Given the description of an element on the screen output the (x, y) to click on. 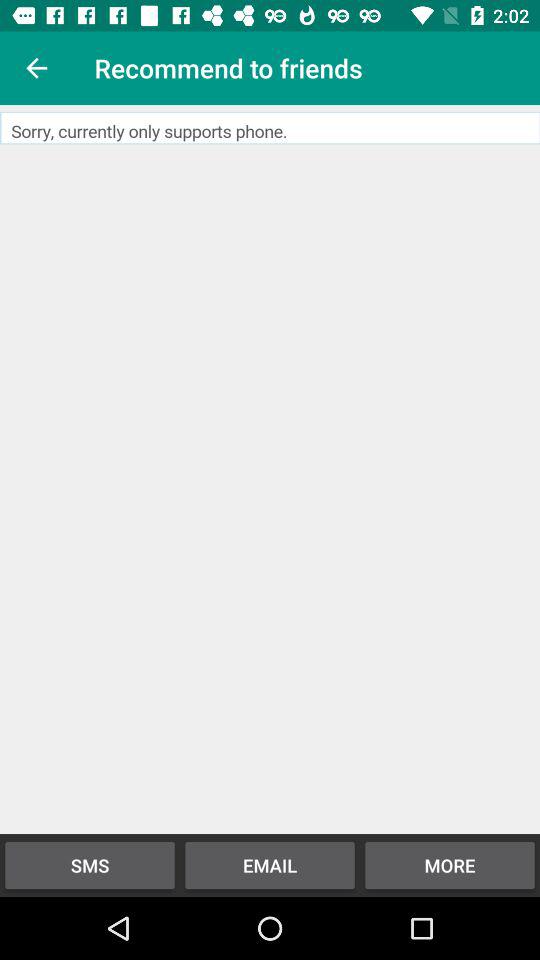
black (270, 469)
